Given the description of an element on the screen output the (x, y) to click on. 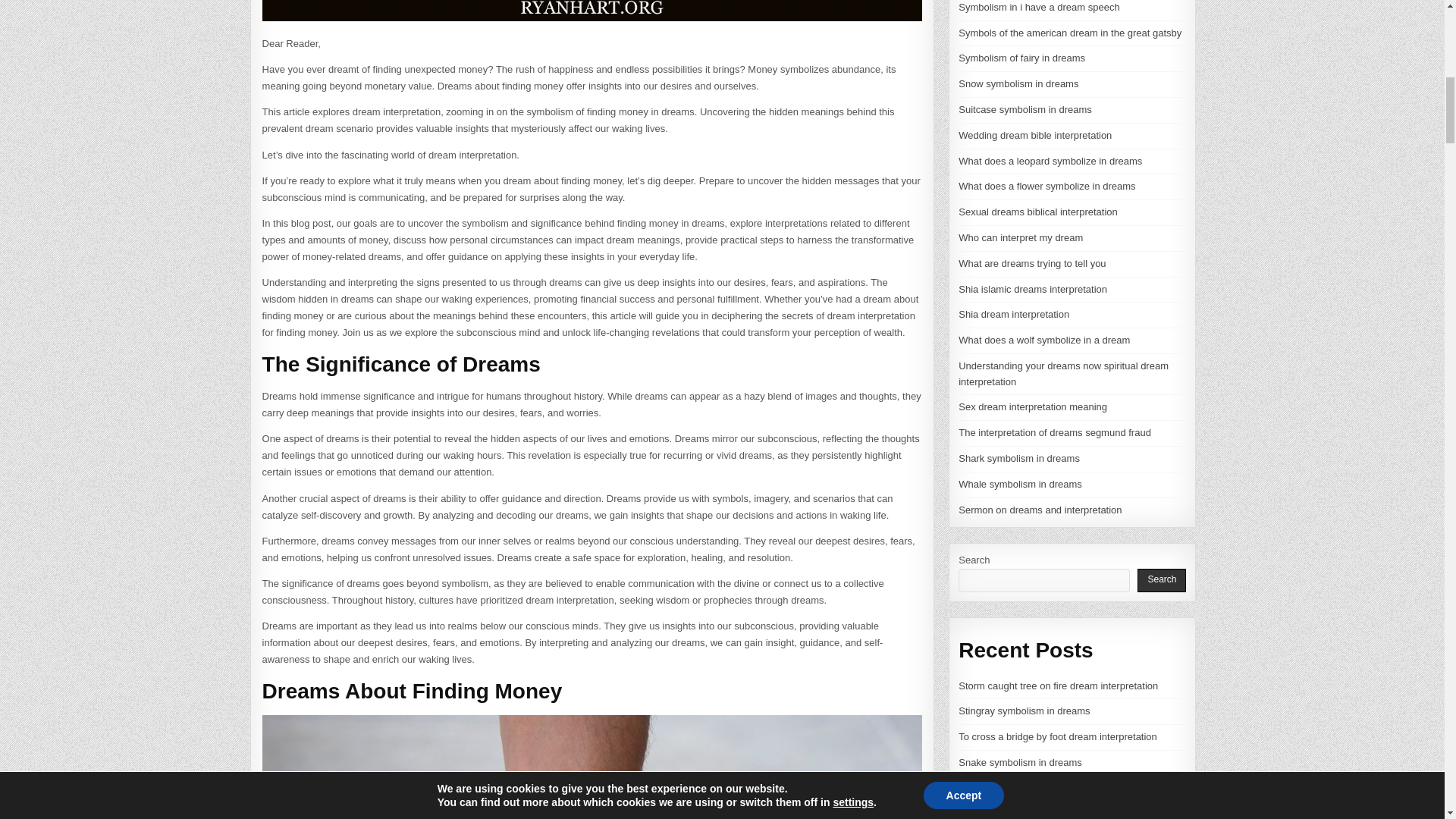
Secrets Revealed - Decode Your Dreams and Find Hidden Riches (592, 10)
